Given the description of an element on the screen output the (x, y) to click on. 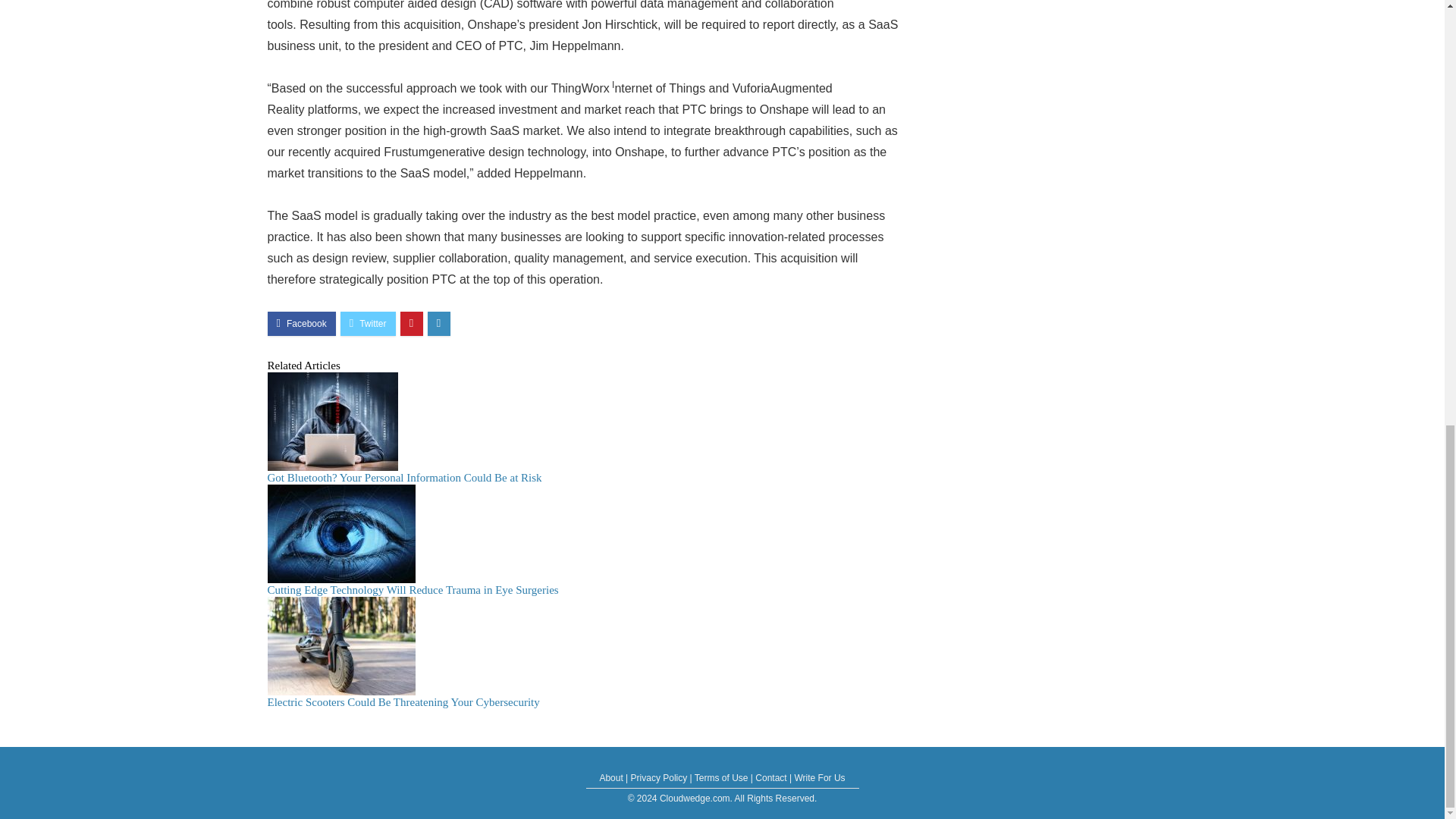
Cutting Edge Technology Will Reduce Trauma in Eye Surgeries (411, 589)
Got Bluetooth? Your Personal Information Could Be at Risk (403, 477)
Cutting Edge Technology Will Reduce Trauma in Eye Surgeries (411, 589)
Contact (770, 777)
Electric Scooters Could Be Threatening Your Cybersecurity (402, 702)
Electric Scooters Could Be Threatening Your Cybersecurity (402, 702)
Got Bluetooth? Your Personal Information Could Be at Risk (403, 477)
